Given the description of an element on the screen output the (x, y) to click on. 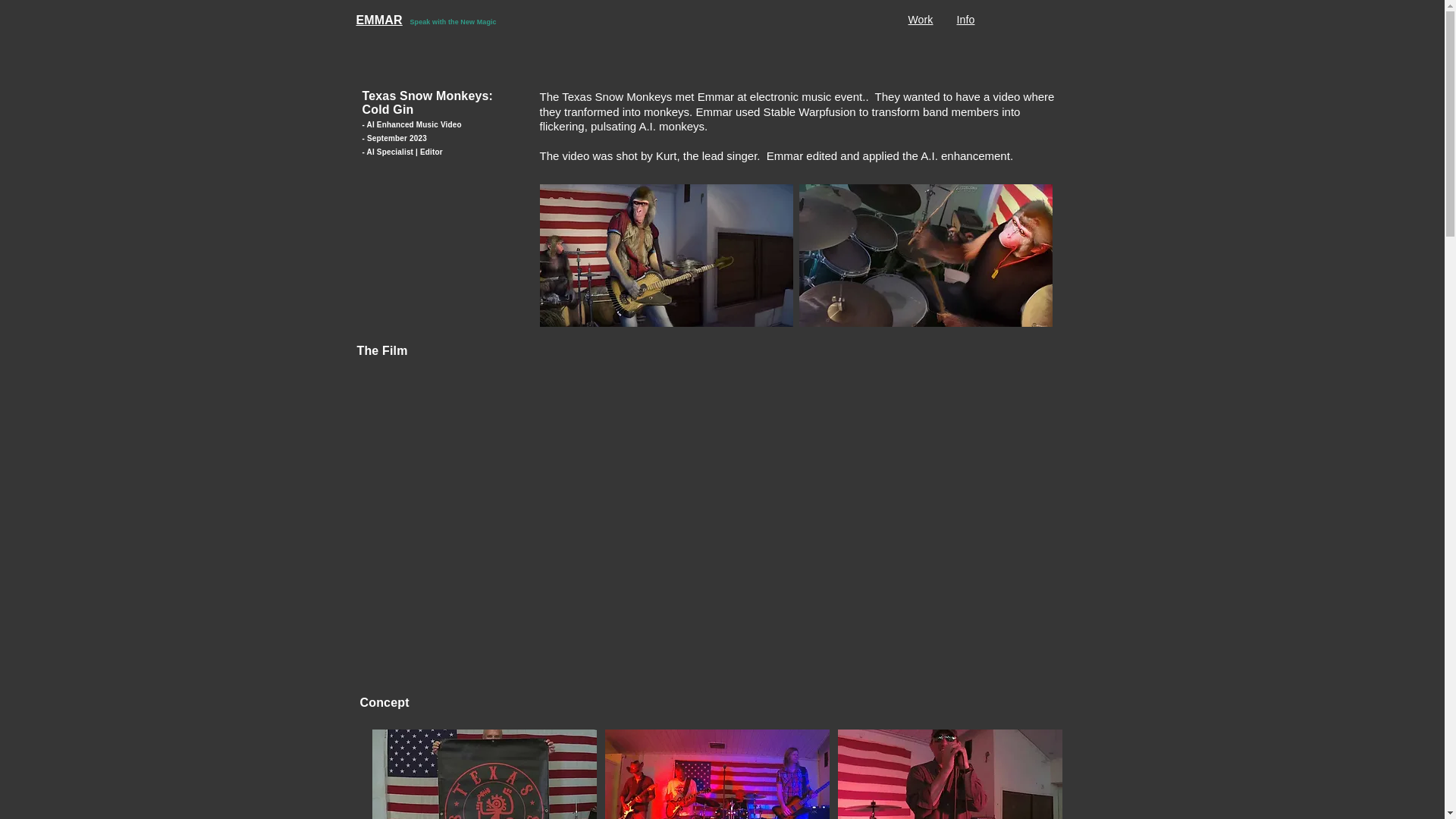
Info (965, 19)
Work (920, 19)
EMMAR (379, 19)
